Given the description of an element on the screen output the (x, y) to click on. 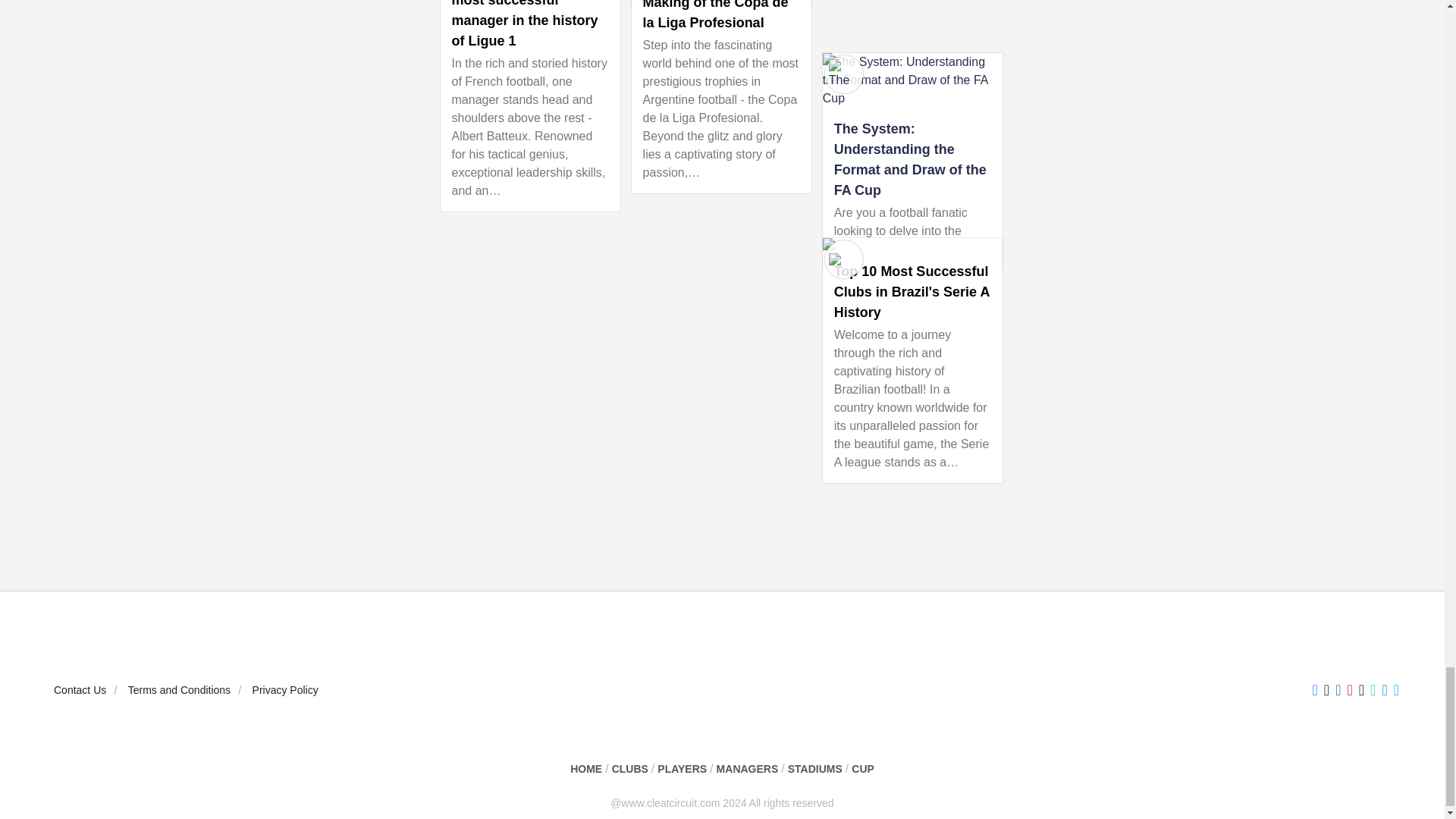
Terms and Conditions (178, 689)
PLAYERS (682, 769)
STADIUMS (815, 769)
Contact Us (79, 689)
Privacy Policy (284, 689)
MANAGERS (747, 769)
